Given the description of an element on the screen output the (x, y) to click on. 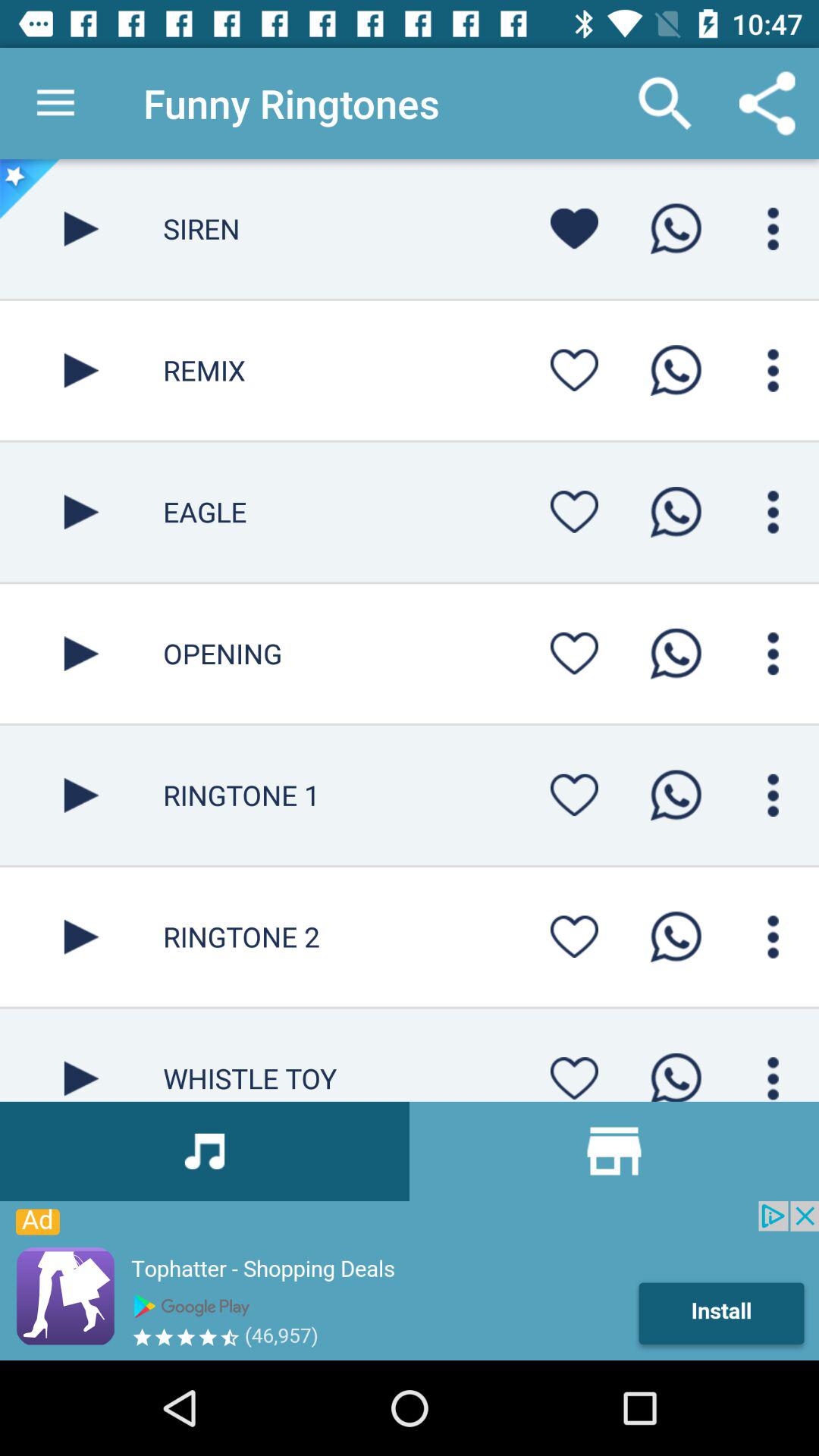
share the ringtone through whats app (675, 936)
